Given the description of an element on the screen output the (x, y) to click on. 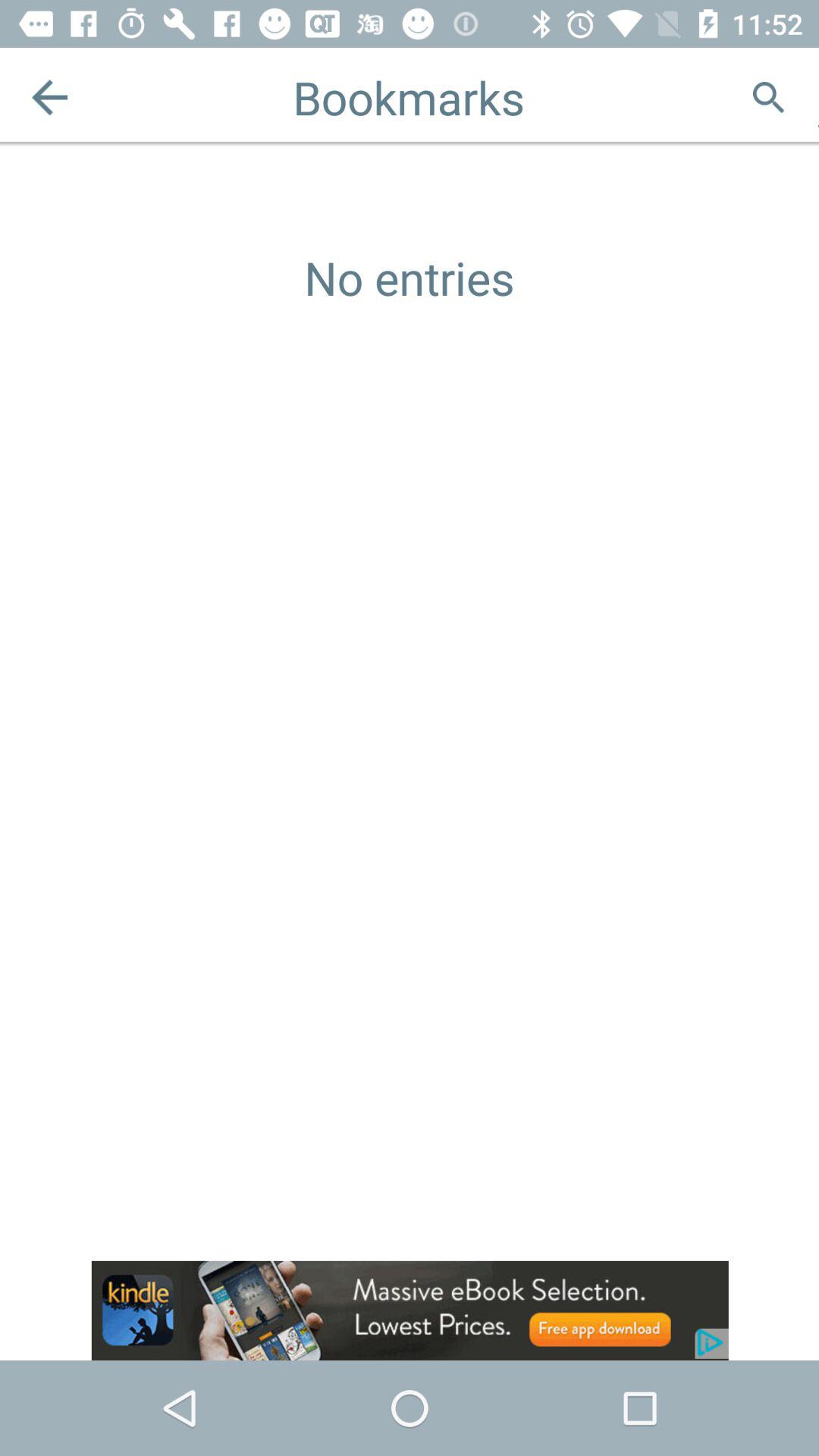
go to back (49, 97)
